Given the description of an element on the screen output the (x, y) to click on. 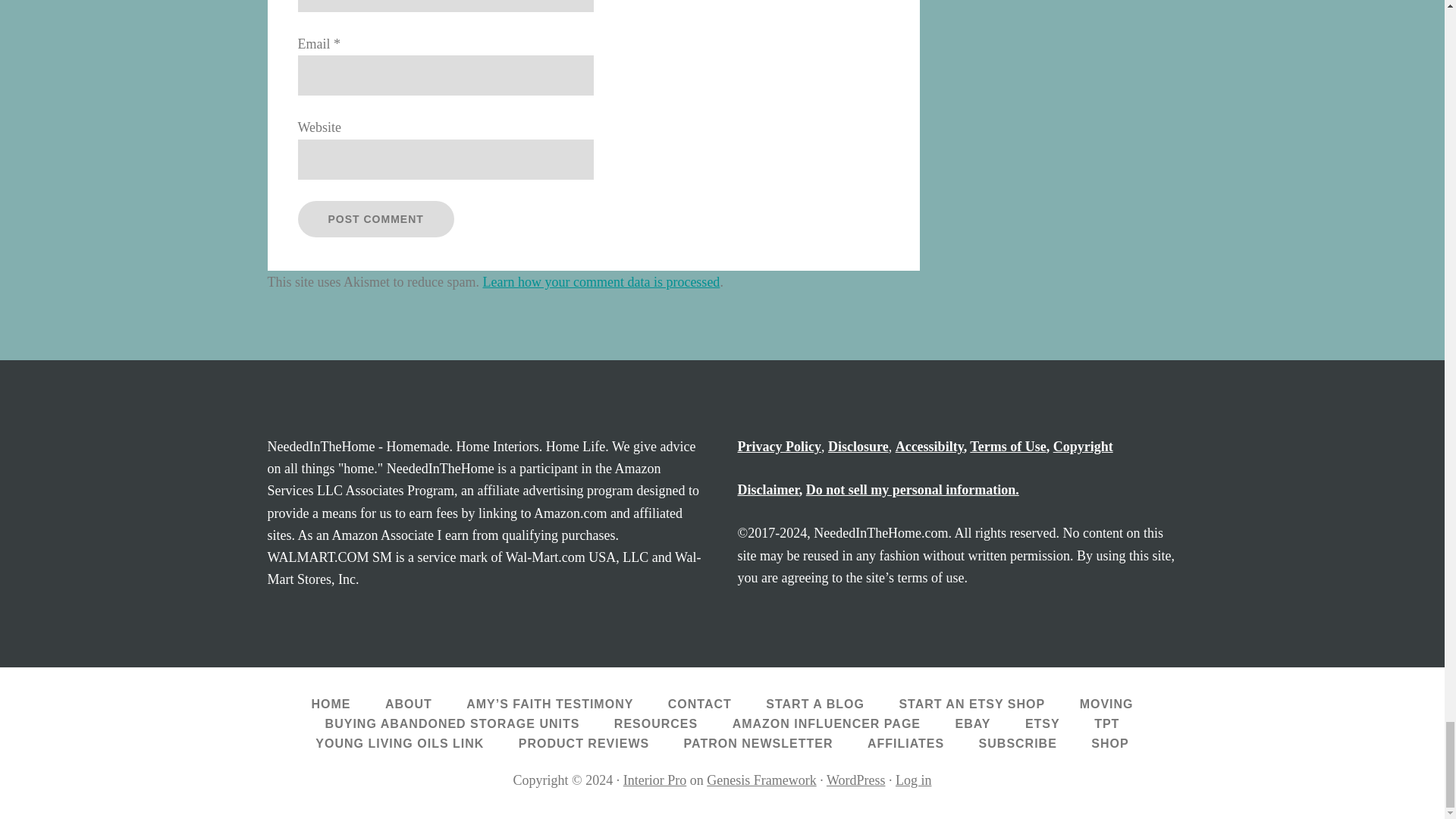
Post Comment (374, 218)
